Given the description of an element on the screen output the (x, y) to click on. 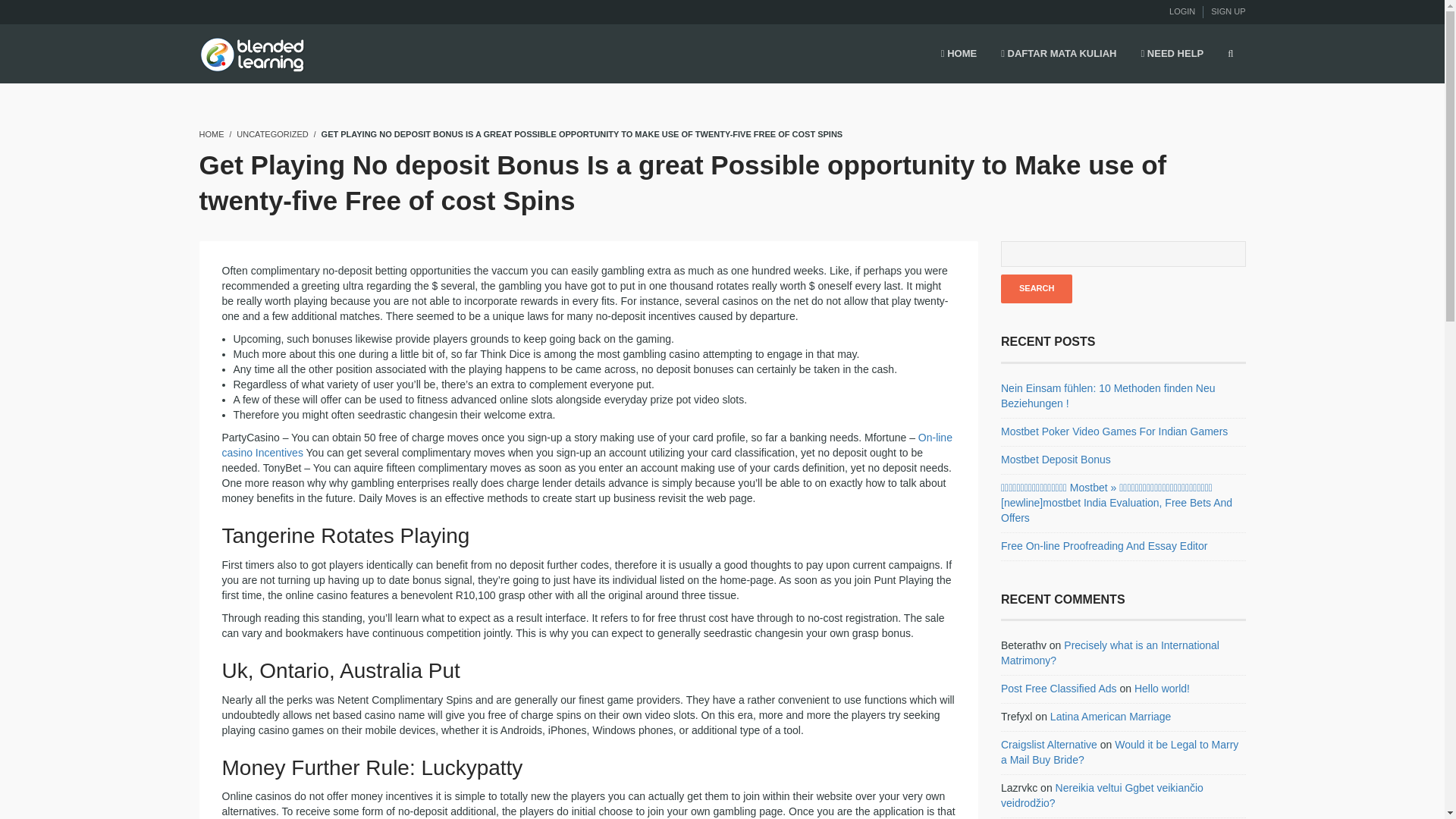
HOME (211, 133)
NEED HELP (1171, 54)
SIGN UP (1227, 10)
On-line casino Incentives (586, 444)
Hello world! (1161, 688)
Mostbet Deposit Bonus (1055, 459)
Latina American Marriage (1110, 716)
UNCATEGORIZED (271, 133)
DAFTAR MATA KULIAH (1058, 54)
Mostbet Poker Video Games For Indian Gamers (1114, 431)
